Given the description of an element on the screen output the (x, y) to click on. 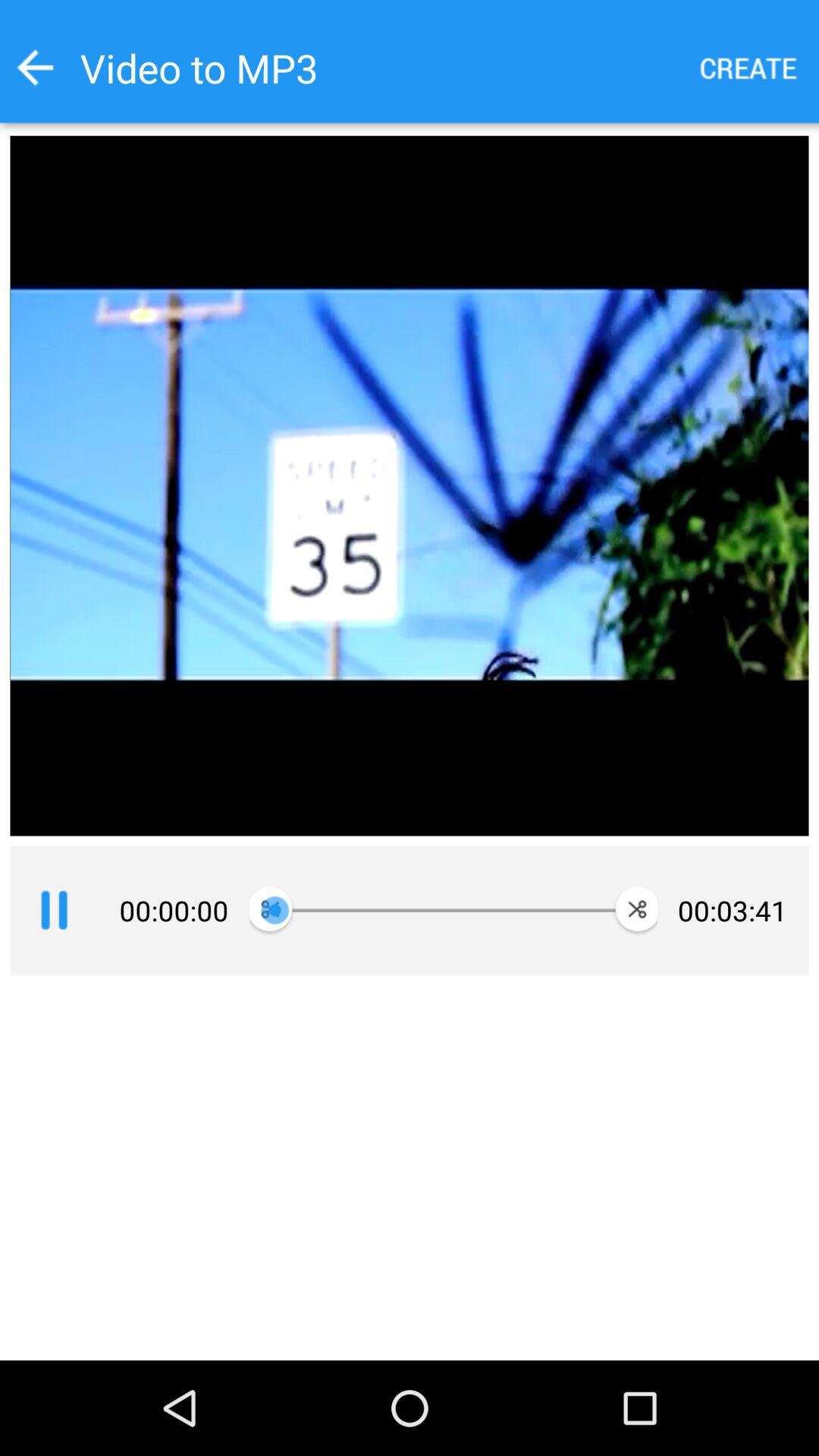
create the new video (749, 67)
